Given the description of an element on the screen output the (x, y) to click on. 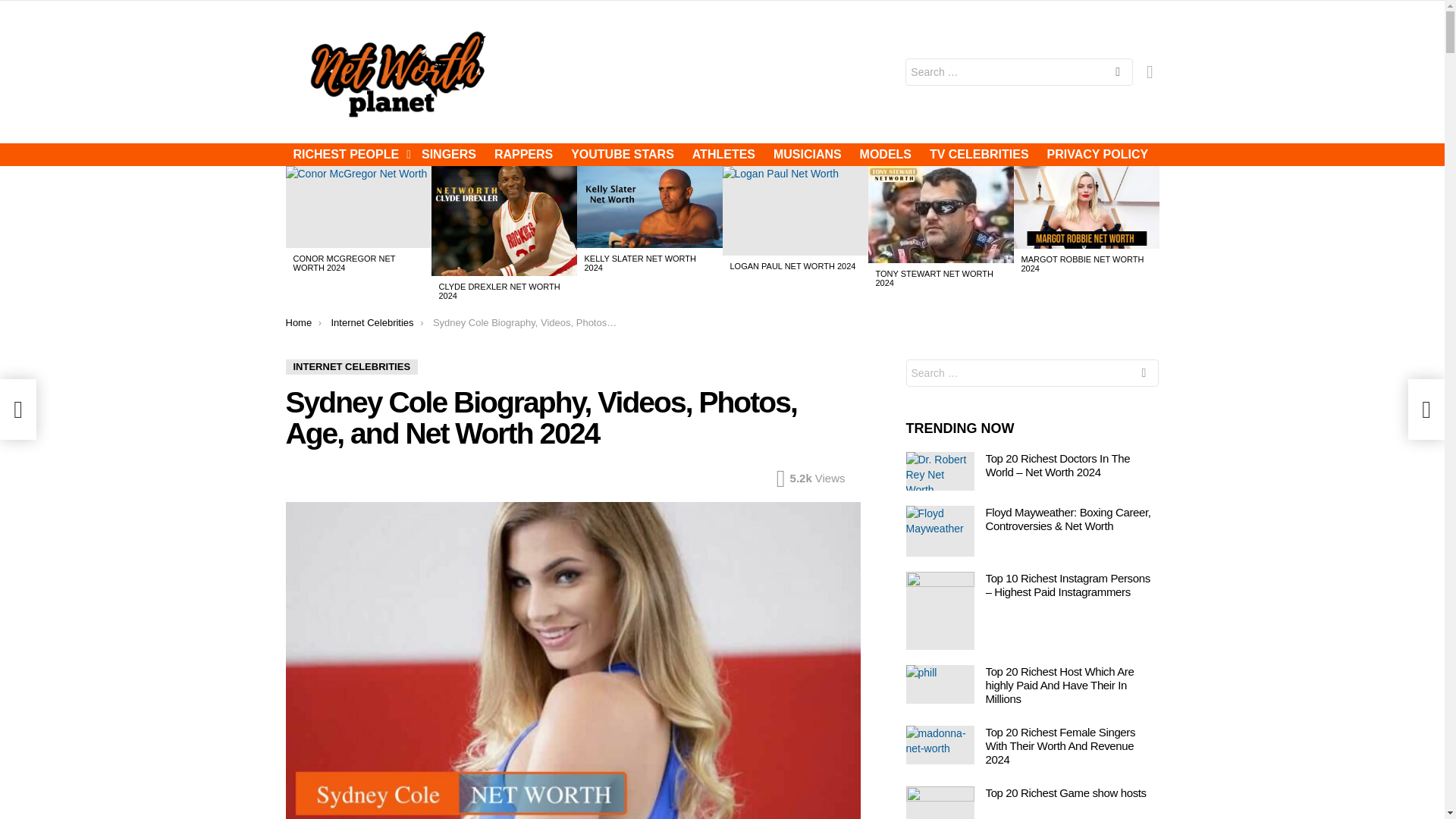
Conor McGregor Net Worth 2024 (357, 207)
RAPPERS (523, 154)
Tony Stewart Net Worth 2024 (940, 214)
TONY STEWART NET WORTH 2024 (933, 278)
Clyde Drexler Net Worth 2024 (503, 221)
TV CELEBRITIES (978, 154)
YOUTUBE STARS (622, 154)
LOGAN PAUL NET WORTH 2024 (792, 266)
SEARCH (1117, 73)
ATHLETES (723, 154)
Margot Robbie Net Worth 2024 (1085, 207)
CONOR MCGREGOR NET WORTH 2024 (343, 262)
Home (298, 322)
KELLY SLATER NET WORTH 2024 (639, 262)
MODELS (884, 154)
